Given the description of an element on the screen output the (x, y) to click on. 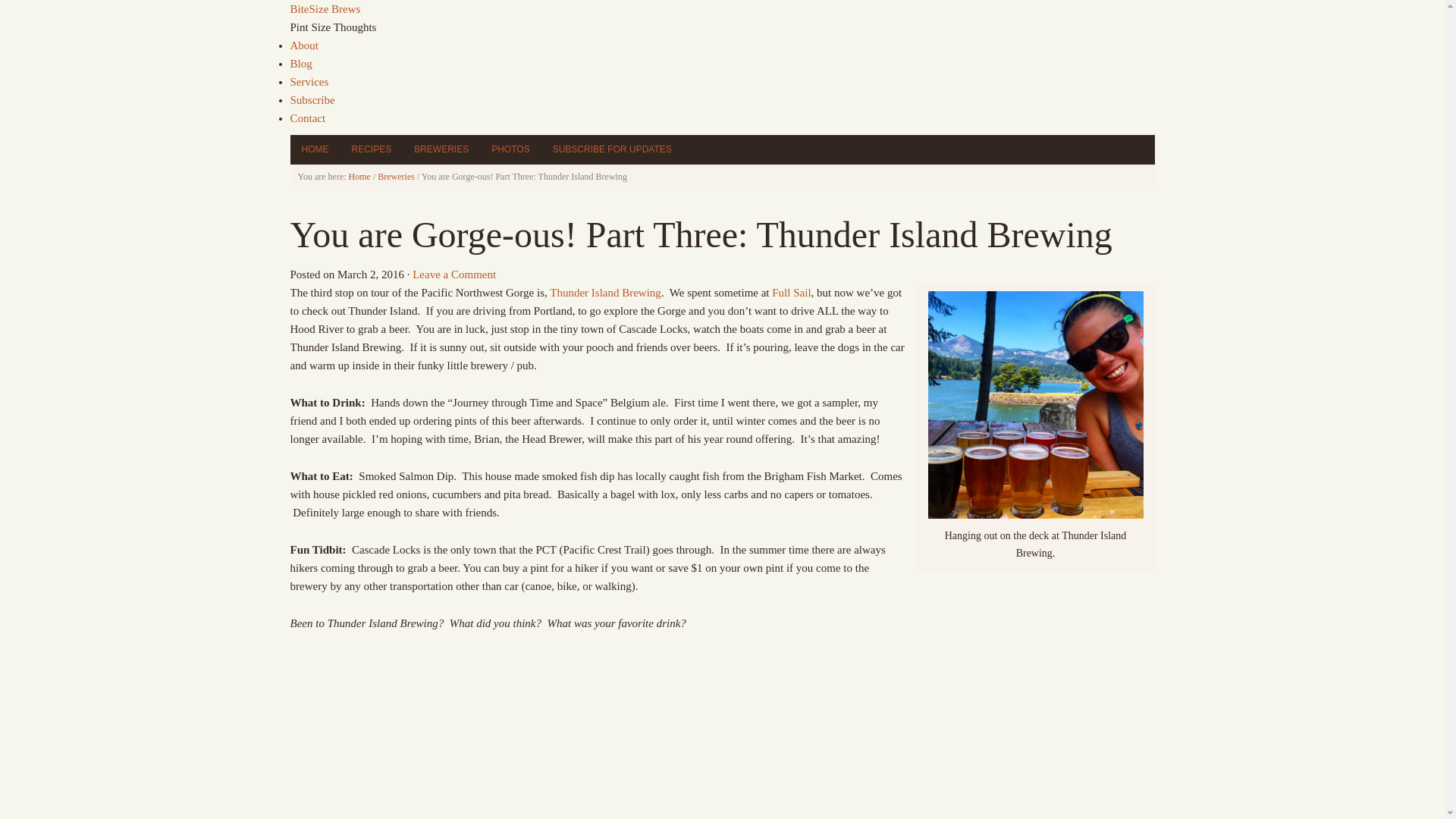
Services (309, 81)
Blog (300, 63)
Breweries (395, 176)
Thunder Island Brewing (605, 292)
BREWERIES (441, 149)
HOME (314, 149)
Home (360, 176)
Subscribe (311, 100)
BiteSize Brews (324, 9)
SUBSCRIBE FOR UPDATES (611, 149)
